Given the description of an element on the screen output the (x, y) to click on. 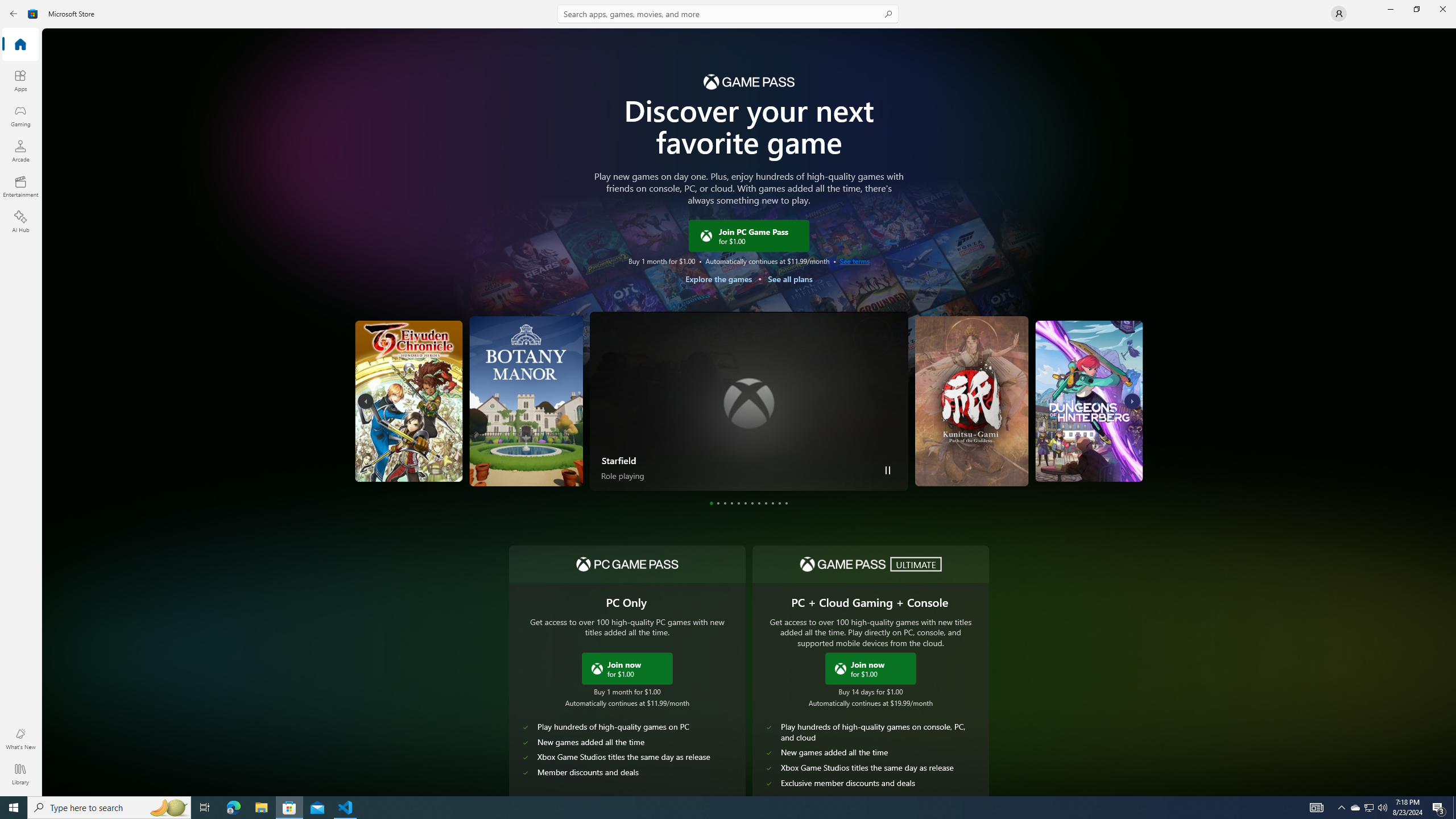
See terms (854, 260)
Join Xbox Game Pass Ultimate now for $1.00 (870, 667)
Page 10 (773, 503)
AutomationID: PosterImage (1088, 400)
Page 9 (766, 503)
Page 12 (786, 503)
AutomationID: TrailerImage (1105, 400)
Starfield (618, 460)
AutomationID: GamePassLogoImage (748, 81)
Pager (748, 503)
Join PC Game Pass now for $1.00 (627, 667)
